Given the description of an element on the screen output the (x, y) to click on. 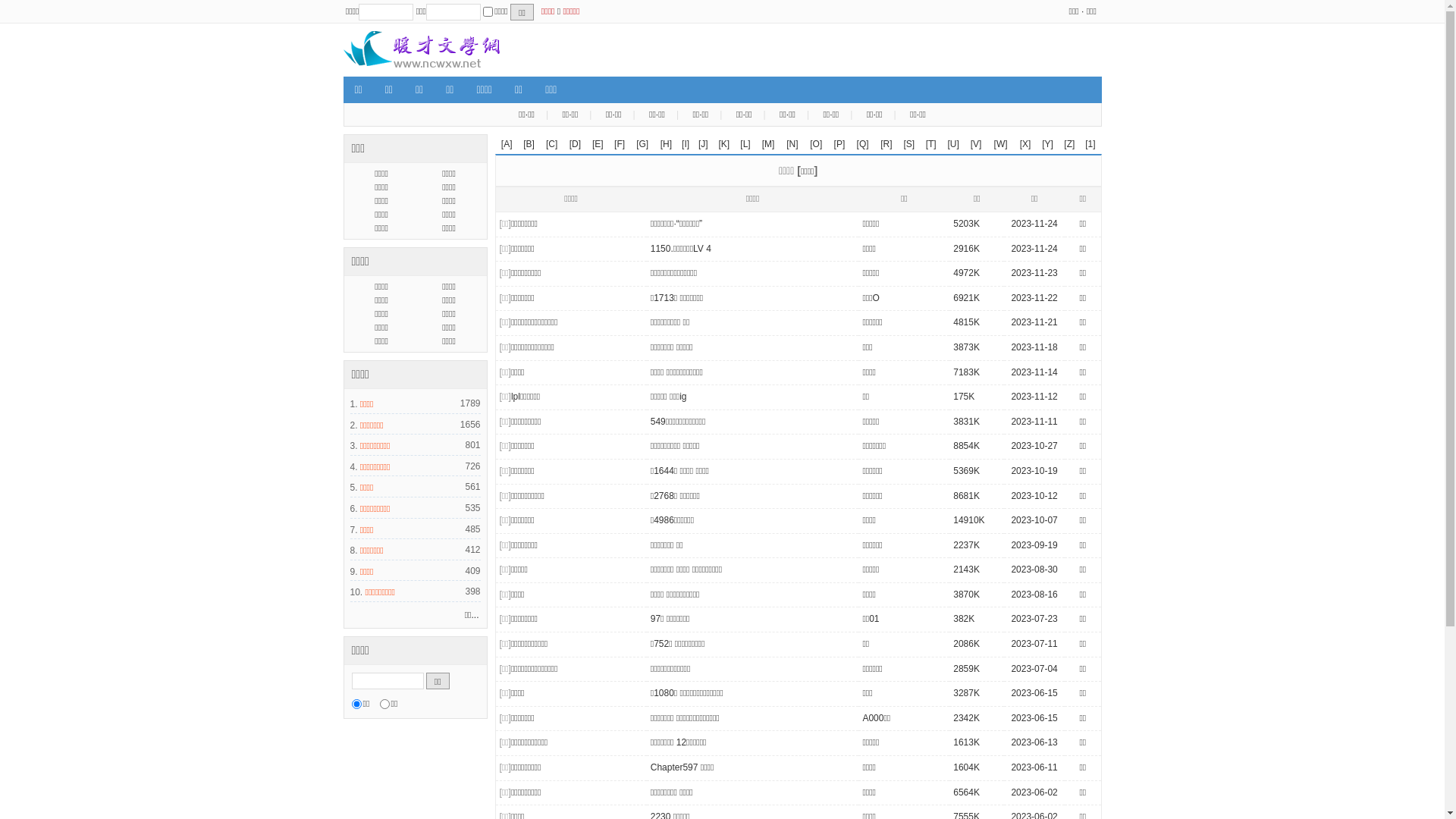
[Q] Element type: text (862, 143)
[F] Element type: text (619, 143)
[X] Element type: text (1025, 143)
[1] Element type: text (1090, 143)
[H] Element type: text (665, 143)
[B] Element type: text (528, 143)
[I] Element type: text (685, 143)
[Y] Element type: text (1047, 143)
[T] Element type: text (930, 143)
[K] Element type: text (724, 143)
[V] Element type: text (976, 143)
[P] Element type: text (839, 143)
[U] Element type: text (952, 143)
[N] Element type: text (791, 143)
[R] Element type: text (885, 143)
[O] Element type: text (815, 143)
[G] Element type: text (642, 143)
[S] Element type: text (909, 143)
[L] Element type: text (744, 143)
[C] Element type: text (551, 143)
[W] Element type: text (1000, 143)
[D] Element type: text (574, 143)
[A] Element type: text (506, 143)
[Z] Element type: text (1068, 143)
[E] Element type: text (597, 143)
[J] Element type: text (703, 143)
[M] Element type: text (768, 143)
